Given the description of an element on the screen output the (x, y) to click on. 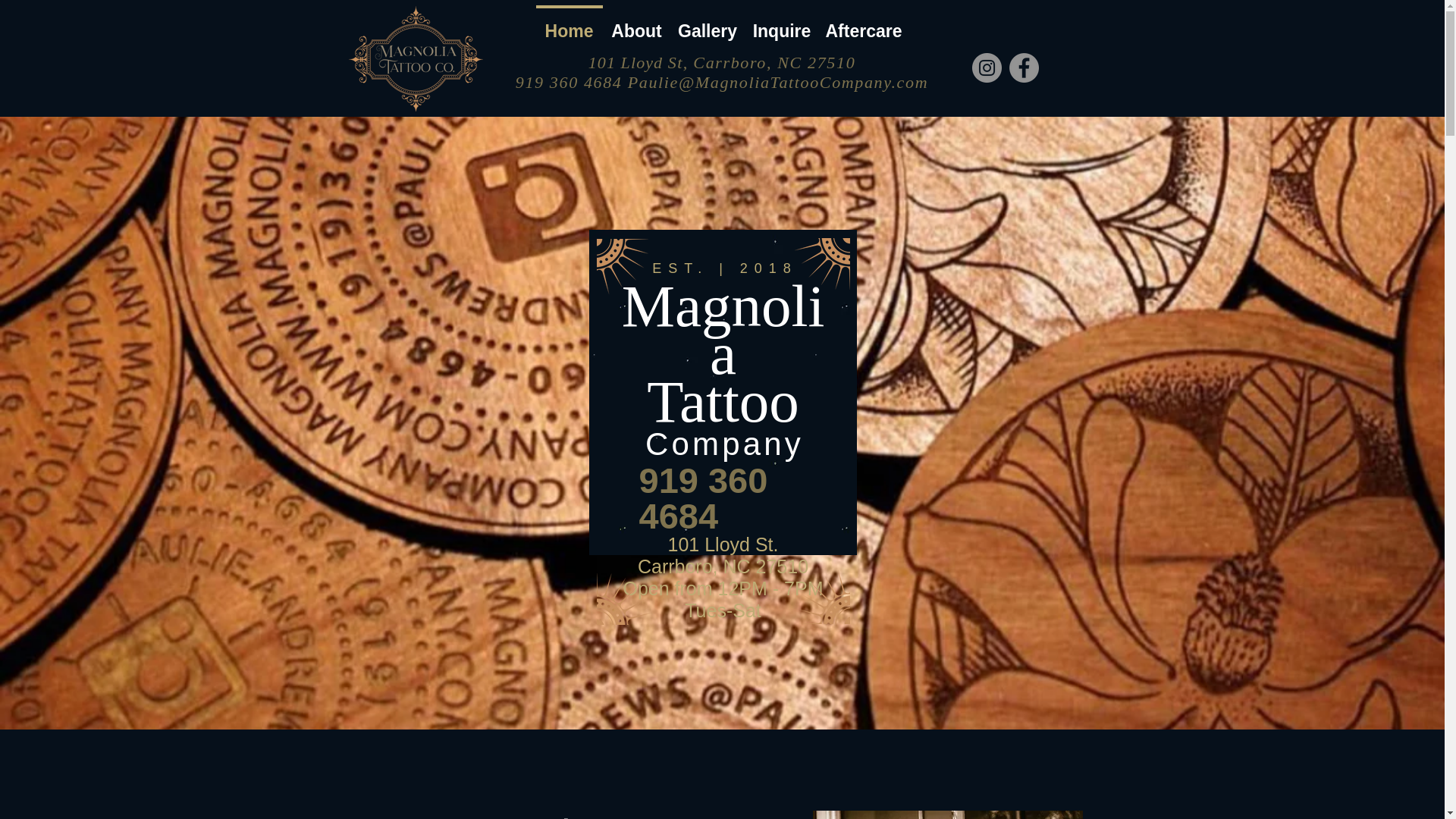
32.png (625, 598)
32.png (827, 590)
Home (568, 23)
32.png (819, 263)
32.png (625, 264)
About (635, 23)
Inquire (781, 23)
Aftercare (862, 23)
Untitled-1.png (415, 57)
Gallery (706, 23)
